Given the description of an element on the screen output the (x, y) to click on. 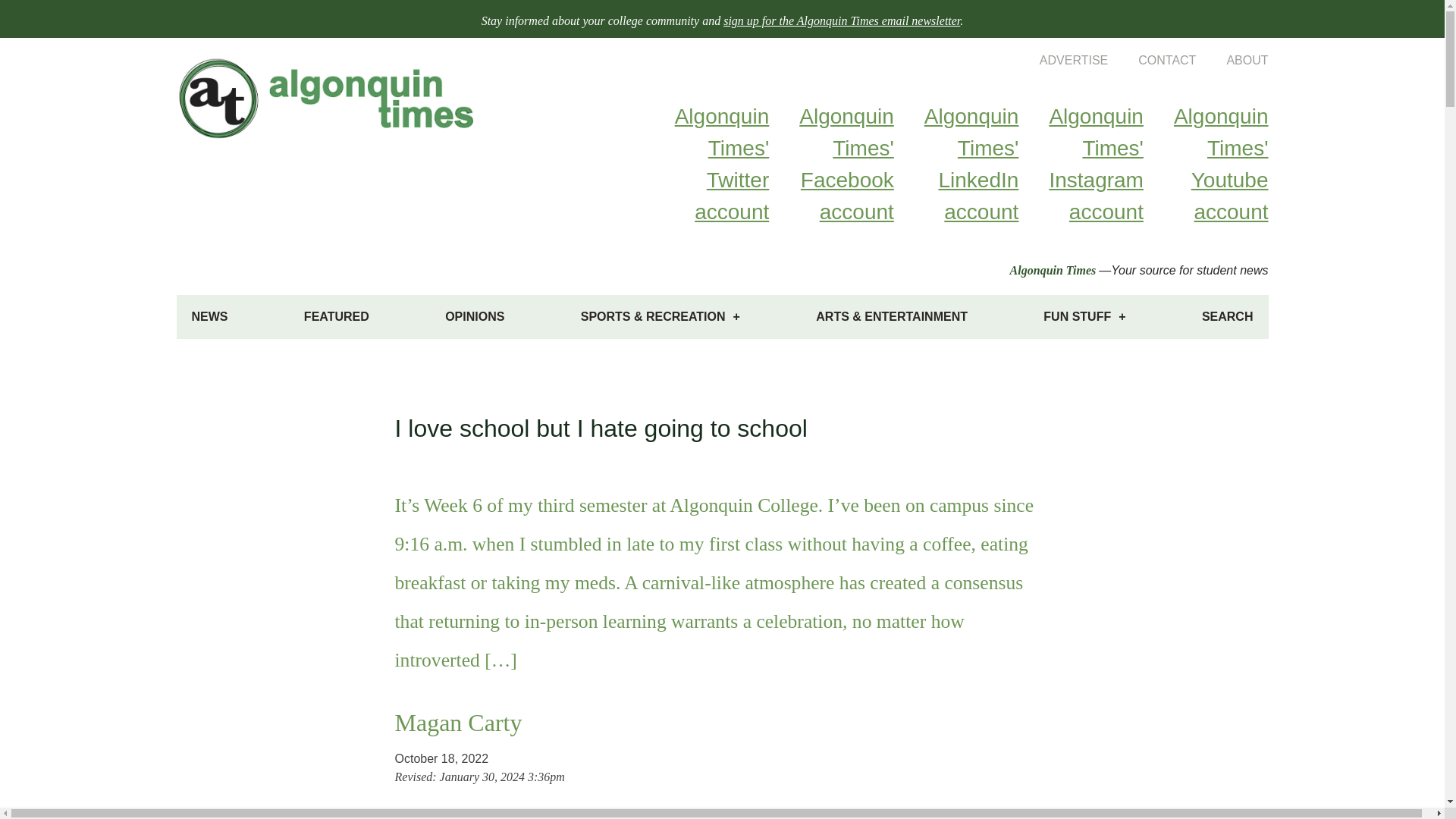
Algonquin Times' LinkedIn account (956, 163)
Algonquin Times' Youtube account (1205, 163)
CONTACT (1151, 60)
ABOUT (1231, 60)
FUN STUFF (1083, 316)
ADVERTISE (1058, 60)
sign up for the Algonquin Times email newsletter (841, 20)
Algonquin Times' Facebook account (830, 163)
Algonquin Times (1053, 269)
FEATURED (336, 316)
